Given the description of an element on the screen output the (x, y) to click on. 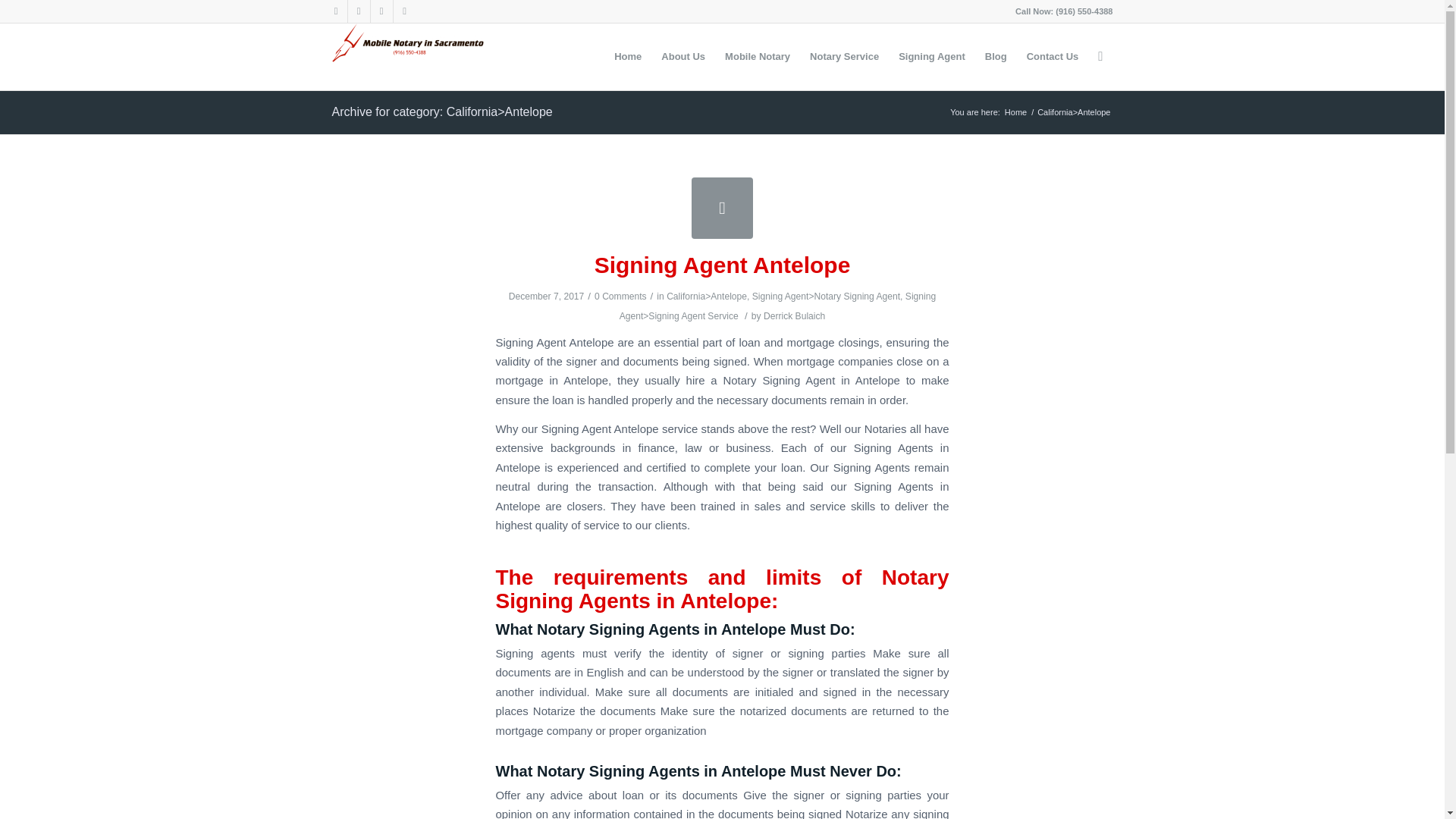
Youtube (380, 11)
Notary Service (843, 56)
0 Comments (620, 296)
Signing Agent Antelope (721, 208)
LinkedIn (403, 11)
About Us (682, 56)
Permanent Link: Signing Agent Antelope (722, 264)
Home (1016, 112)
Facebook (358, 11)
Mobile Notary Sacramento (756, 56)
